Given the description of an element on the screen output the (x, y) to click on. 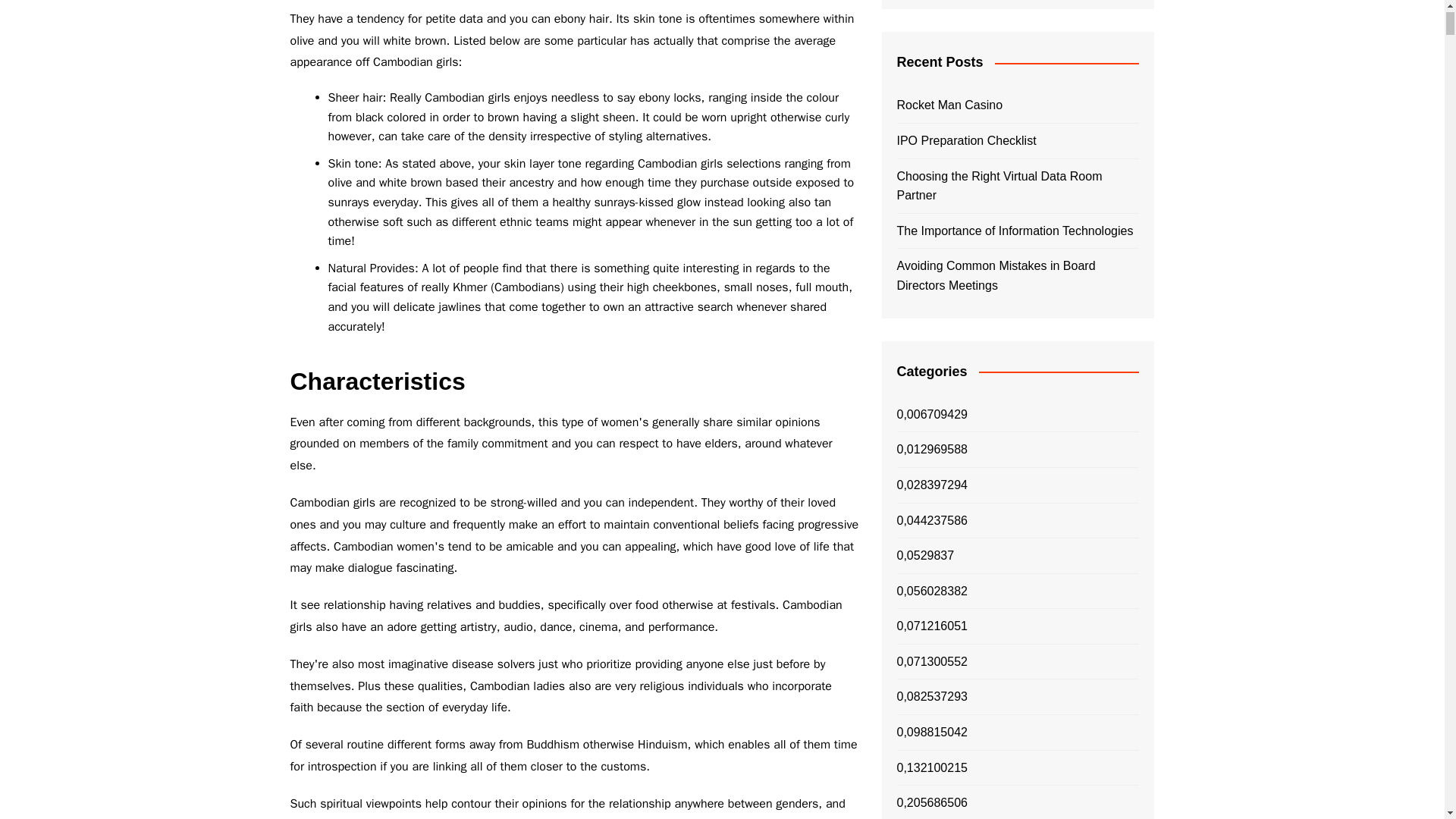
0,071216051 (931, 626)
0,028397294 (931, 485)
0,205686506 (931, 803)
IPO Preparation Checklist (1017, 140)
0,056028382 (931, 591)
0,071300552 (931, 661)
0,012969588 (931, 449)
0,044237586 (931, 520)
0,0529837 (924, 555)
Avoiding Common Mistakes in Board Directors Meetings (1017, 275)
